Given the description of an element on the screen output the (x, y) to click on. 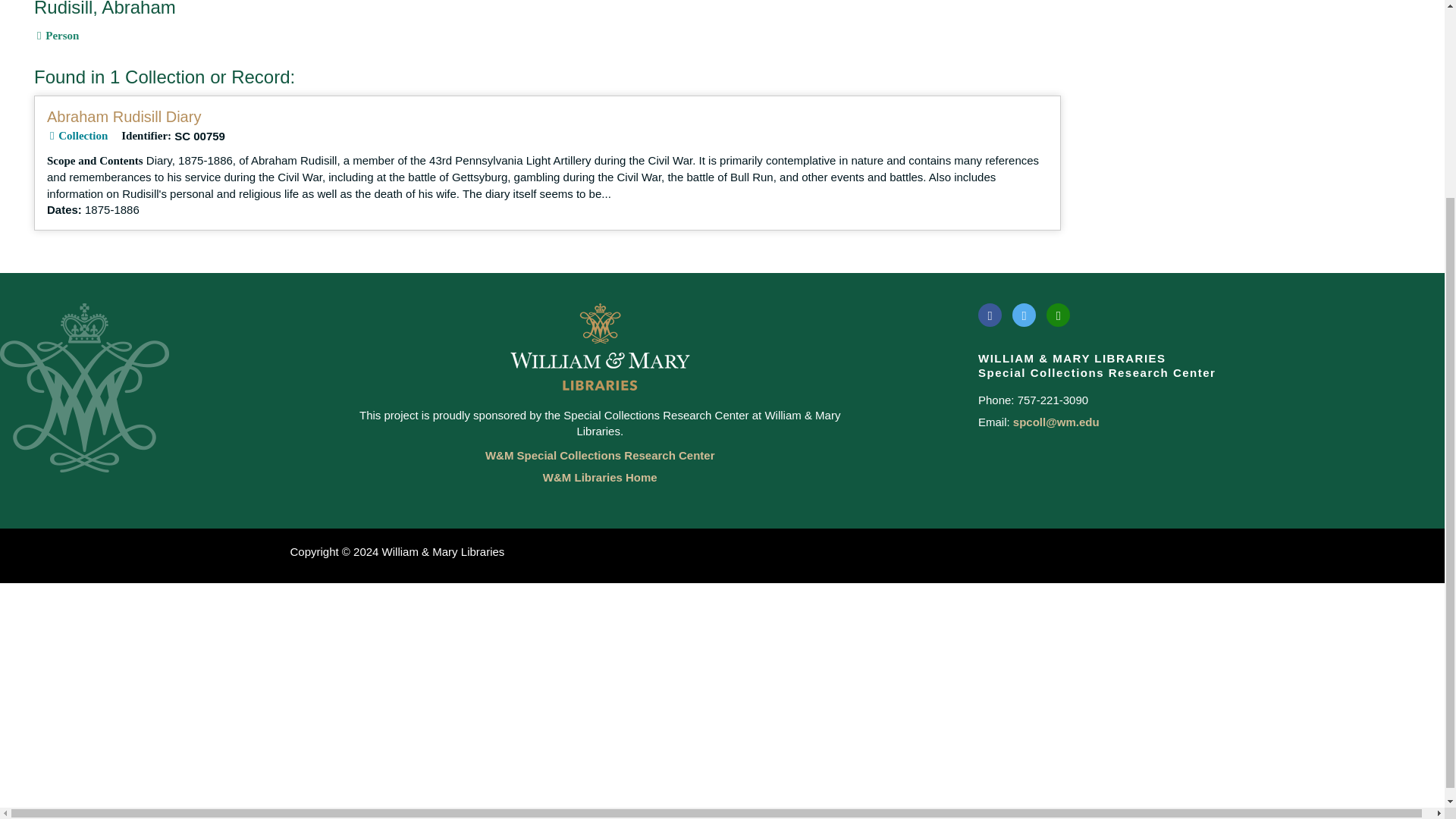
Abraham Rudisill Diary (123, 116)
Special Collections Twitter (1023, 314)
Special Collections Blog (1058, 314)
Special Collections Facebook (989, 314)
